Given the description of an element on the screen output the (x, y) to click on. 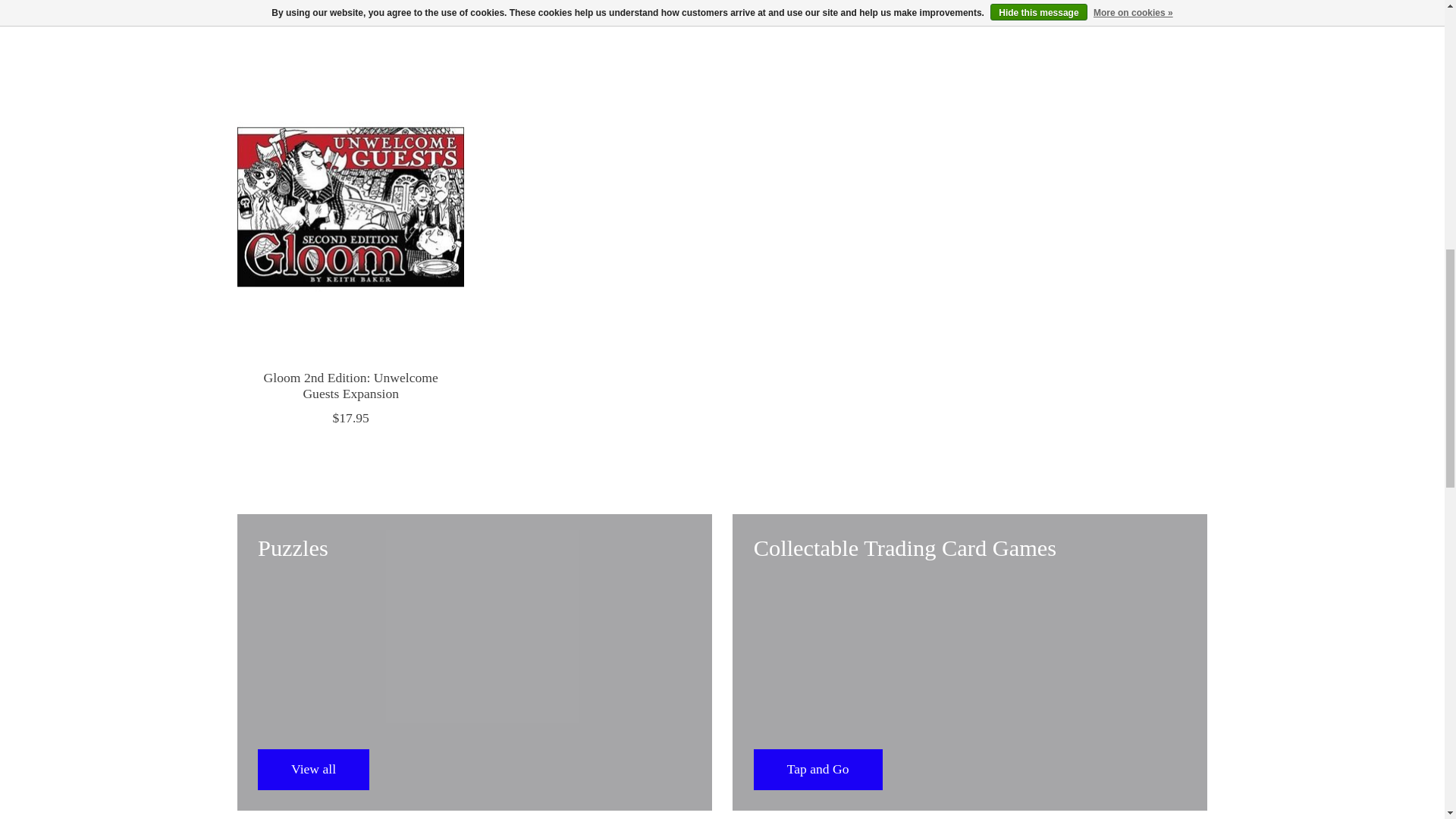
Gloom 2nd Edition: Unwelcome Guests Expansion (349, 206)
